Given the description of an element on the screen output the (x, y) to click on. 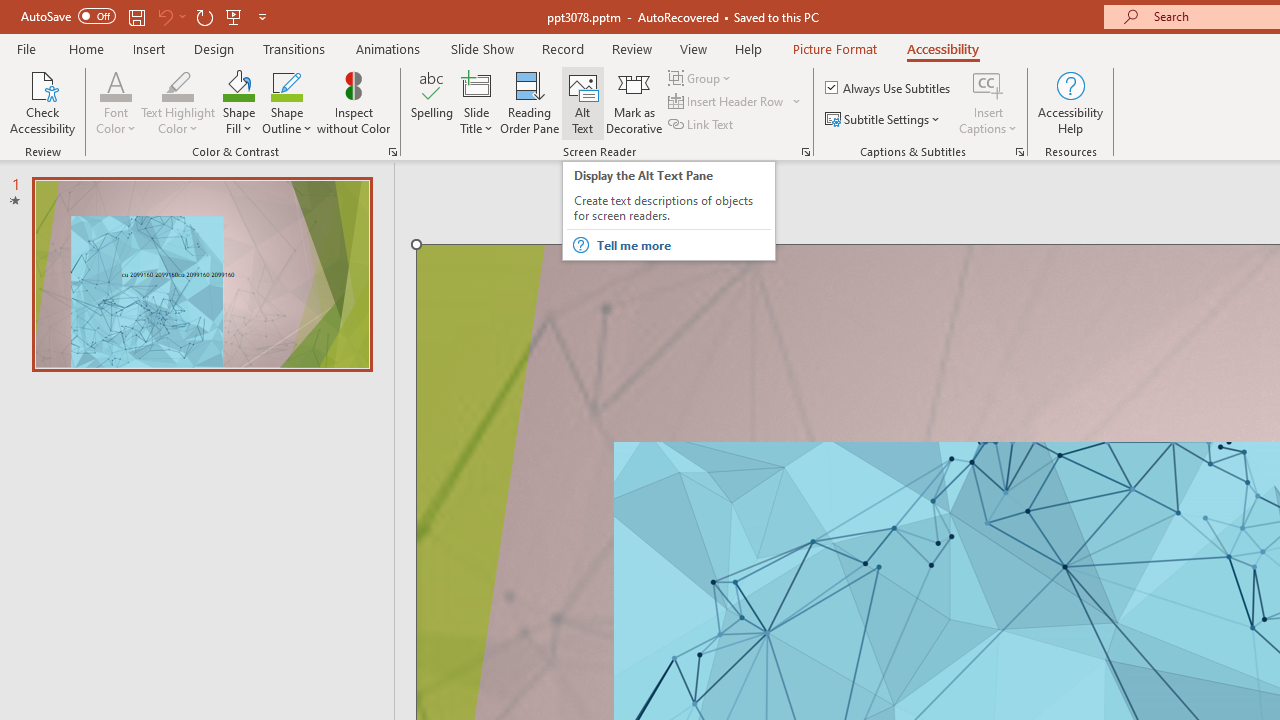
Tell me more (682, 245)
Link Text (702, 124)
Reading Order Pane (529, 102)
Subtitle Settings (884, 119)
Inspect without Color (353, 102)
Picture Format (834, 48)
